Given the description of an element on the screen output the (x, y) to click on. 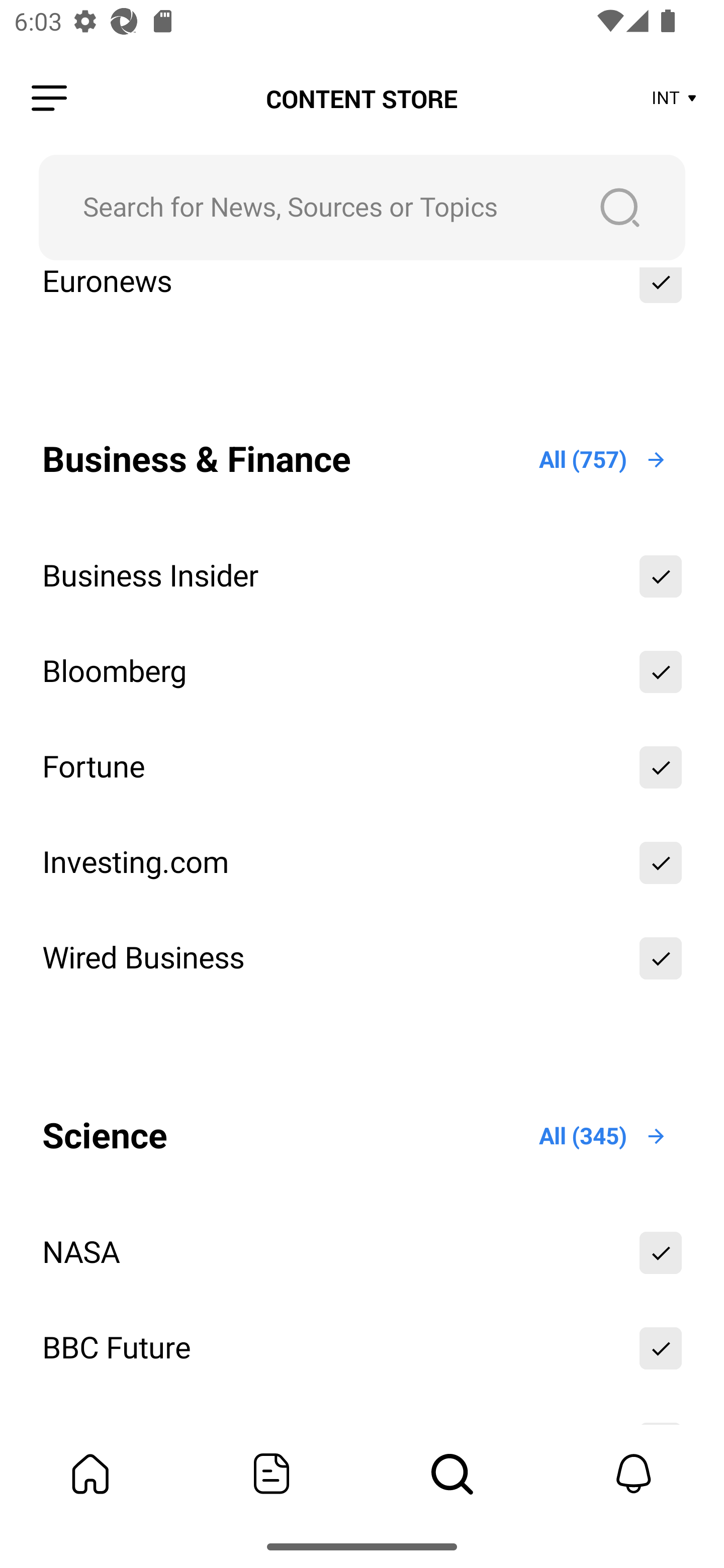
INT Store Area (674, 98)
Leading Icon (49, 98)
Search for News, Sources or Topics Search Button (361, 207)
Euronews Add To My Bundle (361, 296)
Add To My Bundle (660, 296)
All (757) Open All Icon (603, 459)
Business Insider Add To My Bundle (361, 576)
Add To My Bundle (660, 576)
Bloomberg Add To My Bundle (361, 671)
Add To My Bundle (660, 671)
Fortune Add To My Bundle (361, 766)
Add To My Bundle (660, 766)
Investing.com Add To My Bundle (361, 862)
Add To My Bundle (660, 862)
Wired Business Add To My Bundle (361, 957)
Add To My Bundle (660, 957)
All (345) Open All Icon (603, 1136)
NASA Add To My Bundle (361, 1252)
Add To My Bundle (660, 1252)
BBC Future Add To My Bundle (361, 1348)
Add To My Bundle (660, 1348)
My Bundle (90, 1473)
Featured (271, 1473)
Notifications (633, 1473)
